Given the description of an element on the screen output the (x, y) to click on. 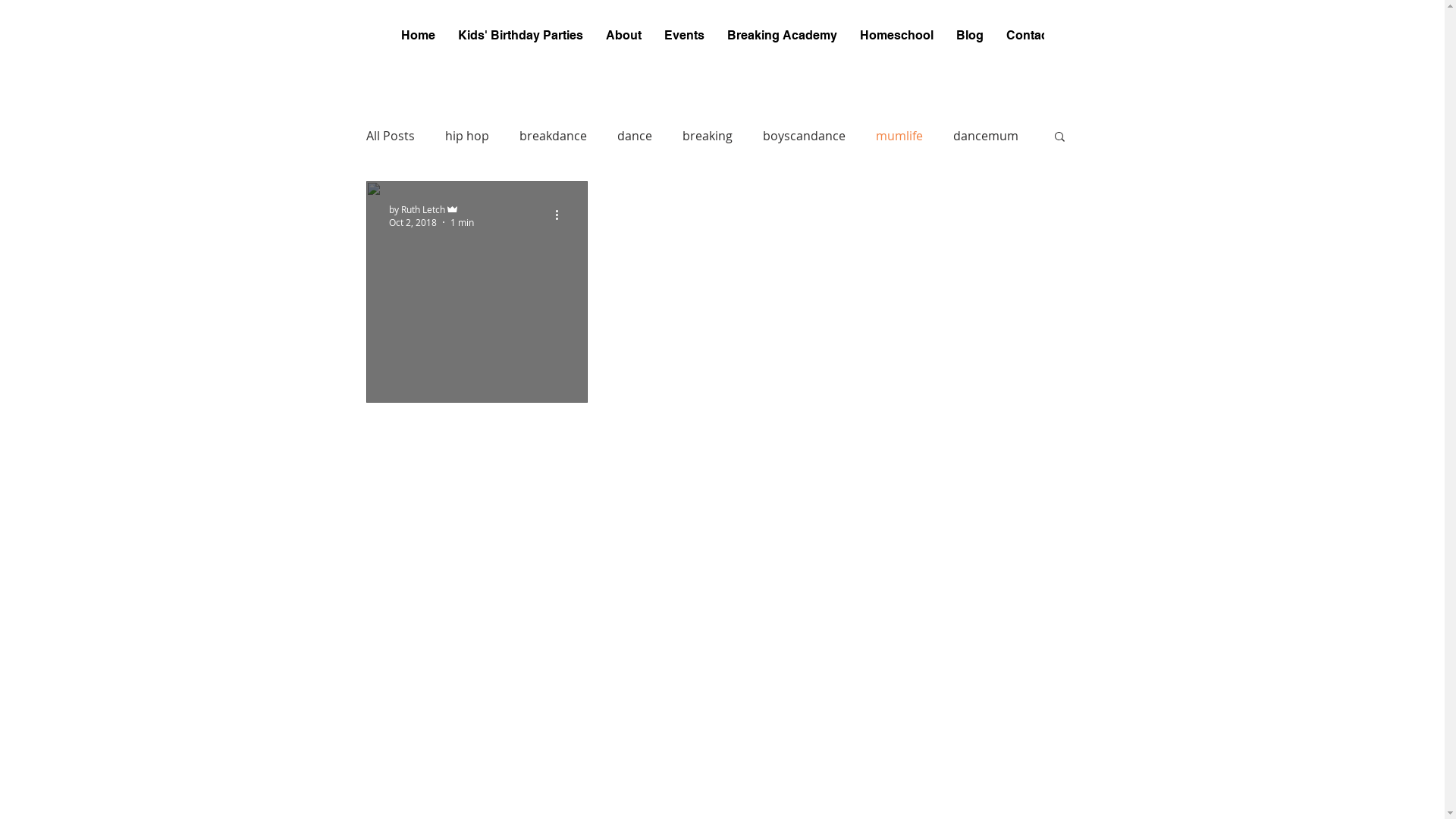
dancemum Element type: text (984, 135)
dance Element type: text (634, 135)
All Posts Element type: text (389, 135)
by Ruth Letch Element type: text (430, 208)
hip hop Element type: text (466, 135)
Blog Element type: text (969, 40)
Kids' Birthday Parties Element type: text (519, 40)
boyscandance Element type: text (803, 135)
Breaking Academy Element type: text (781, 40)
breakdance Element type: text (552, 135)
Contact Element type: text (1028, 40)
Homeschool Element type: text (895, 40)
breaking Element type: text (707, 135)
About Element type: text (623, 40)
Home Element type: text (417, 40)
mumlife Element type: text (898, 135)
Events Element type: text (683, 40)
